Given the description of an element on the screen output the (x, y) to click on. 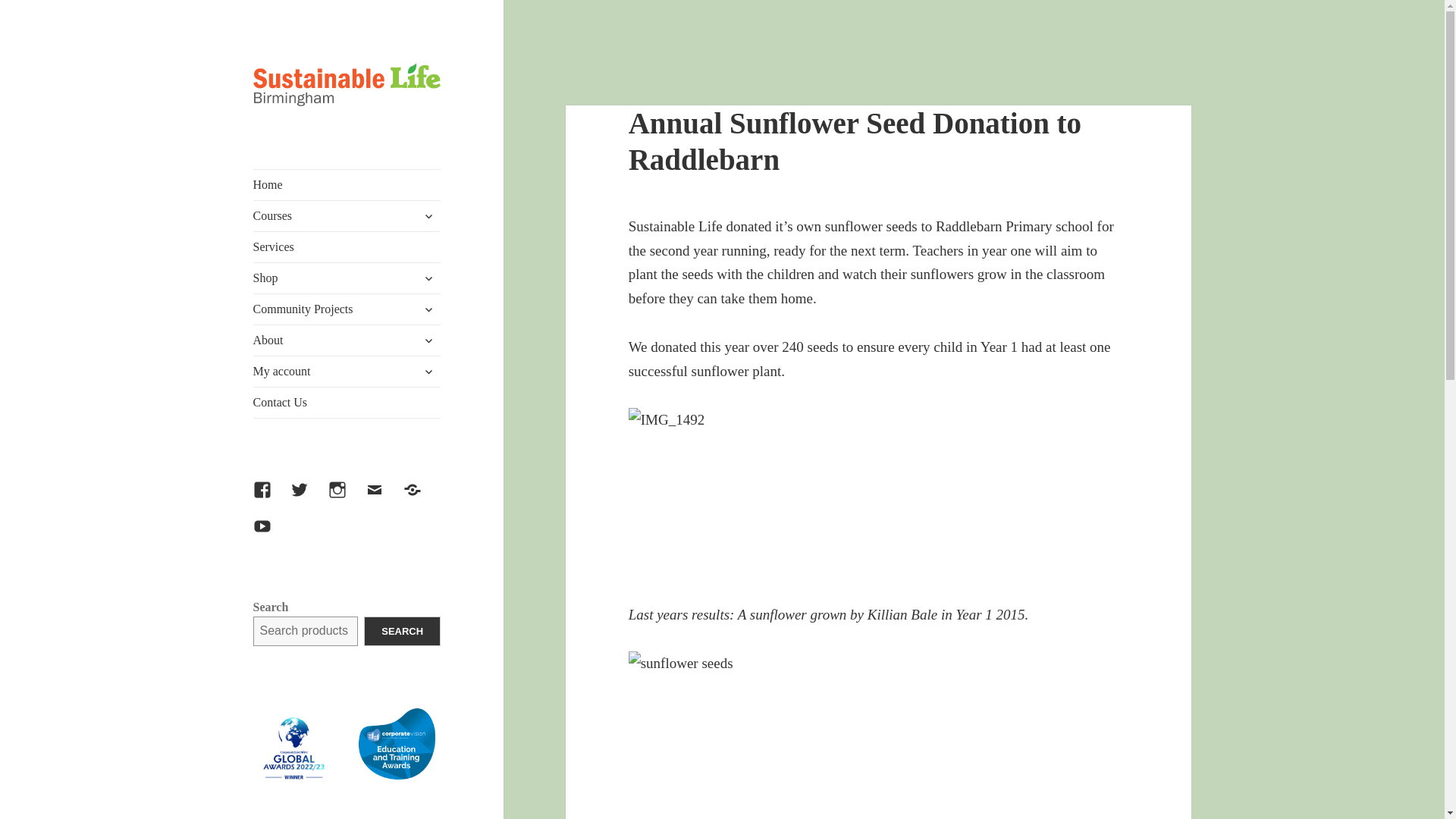
Shop (347, 277)
expand child menu (428, 215)
Home (347, 184)
expand child menu (428, 278)
Sustainable Life Birmingham (331, 142)
Courses (347, 215)
Services (347, 246)
